Given the description of an element on the screen output the (x, y) to click on. 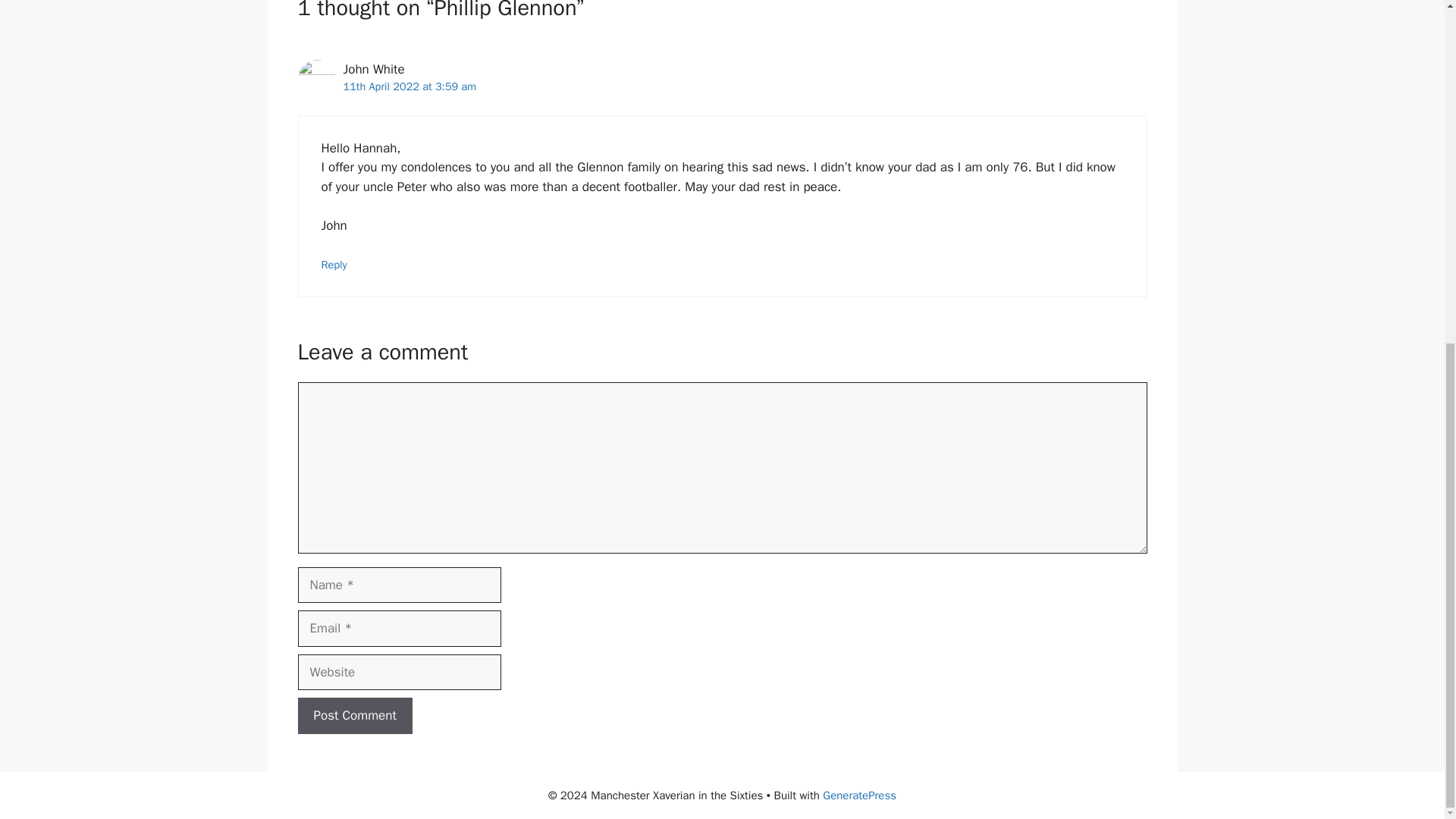
11th April 2022 at 3:59 am (409, 86)
Post Comment (354, 715)
Reply (334, 264)
GeneratePress (859, 795)
Post Comment (354, 715)
